Given the description of an element on the screen output the (x, y) to click on. 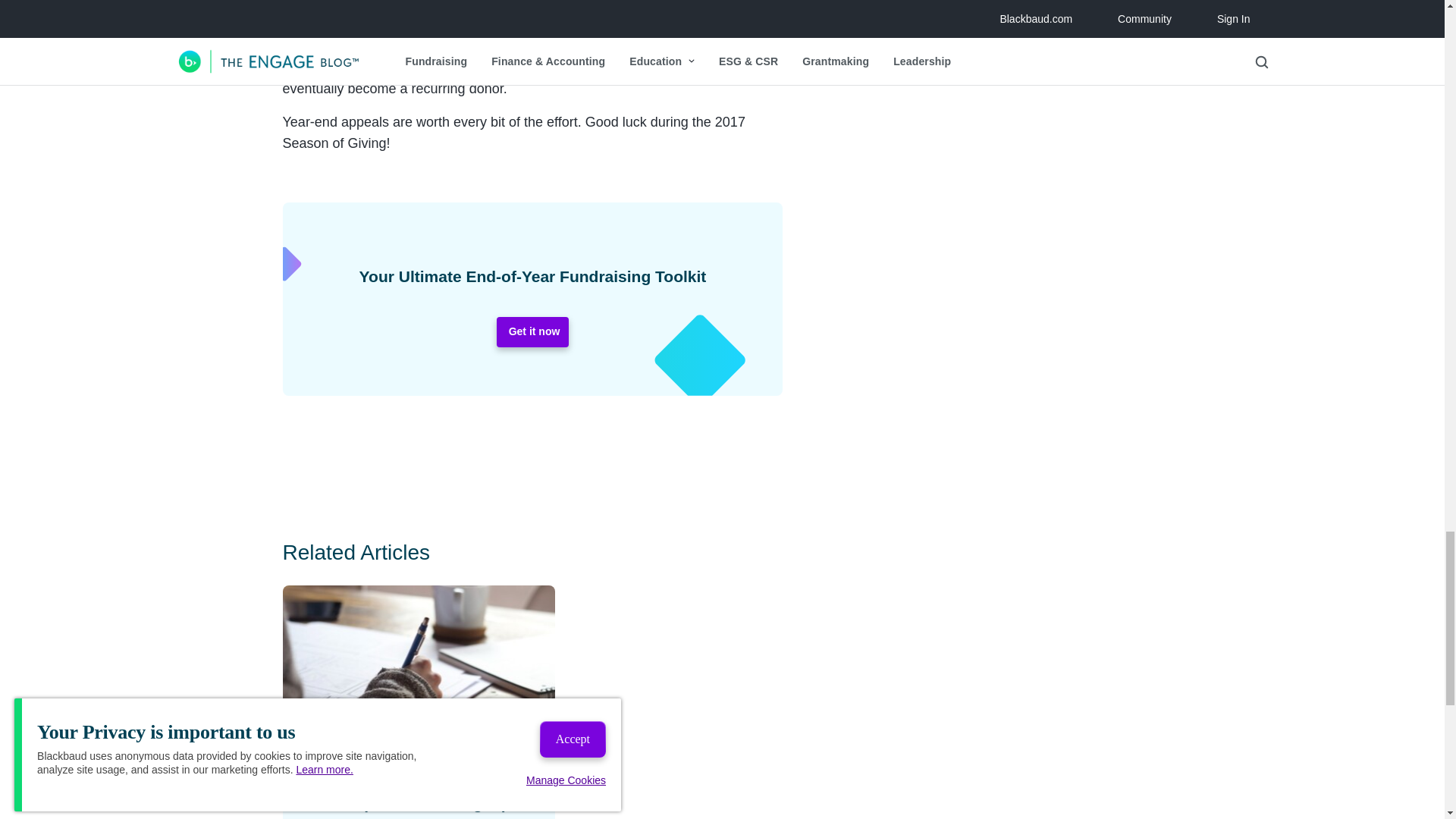
Stewardship is the key to successful donor retention (439, 5)
Get it now (532, 331)
